Given the description of an element on the screen output the (x, y) to click on. 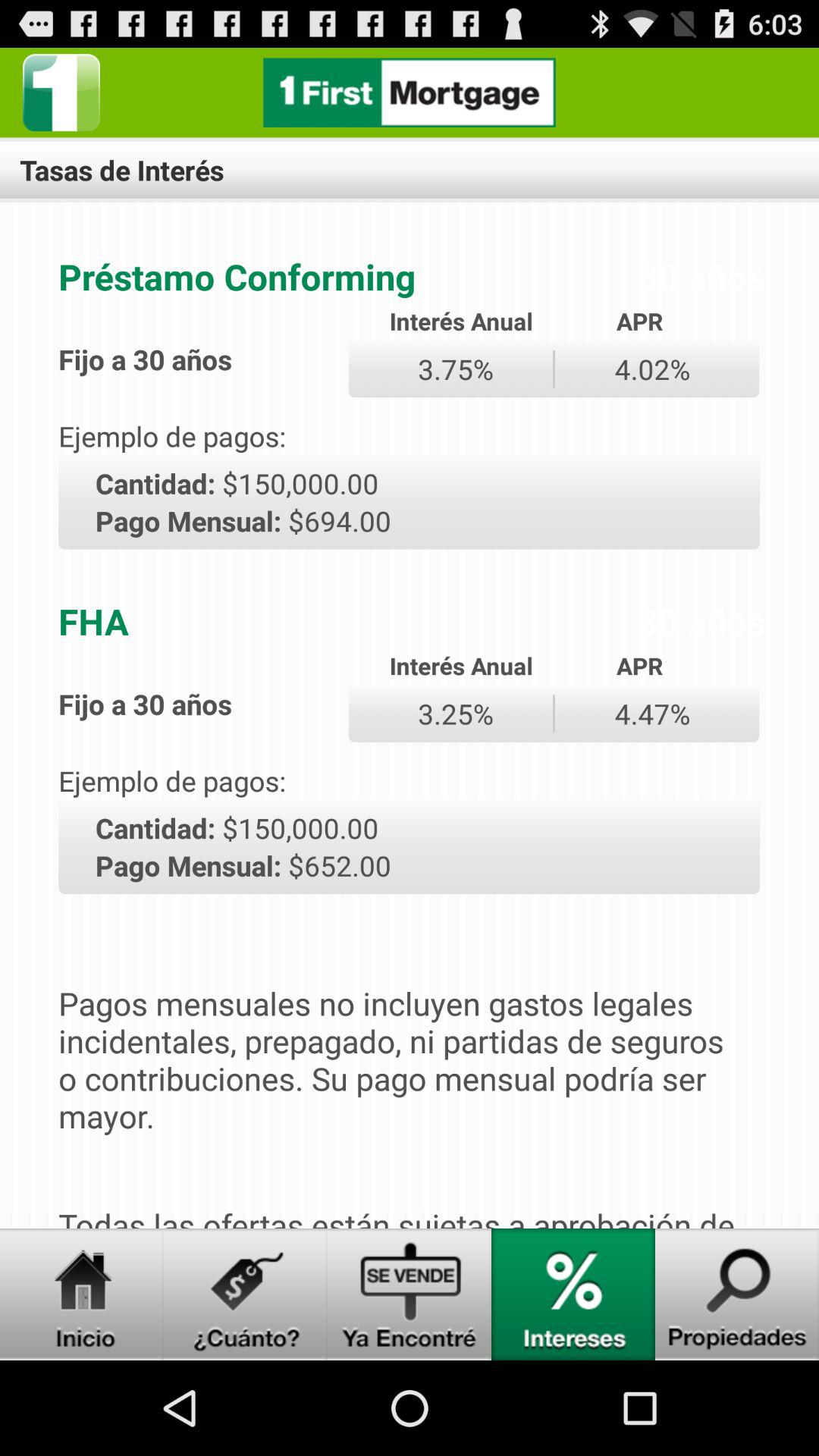
navigate to home screen (81, 1294)
